Given the description of an element on the screen output the (x, y) to click on. 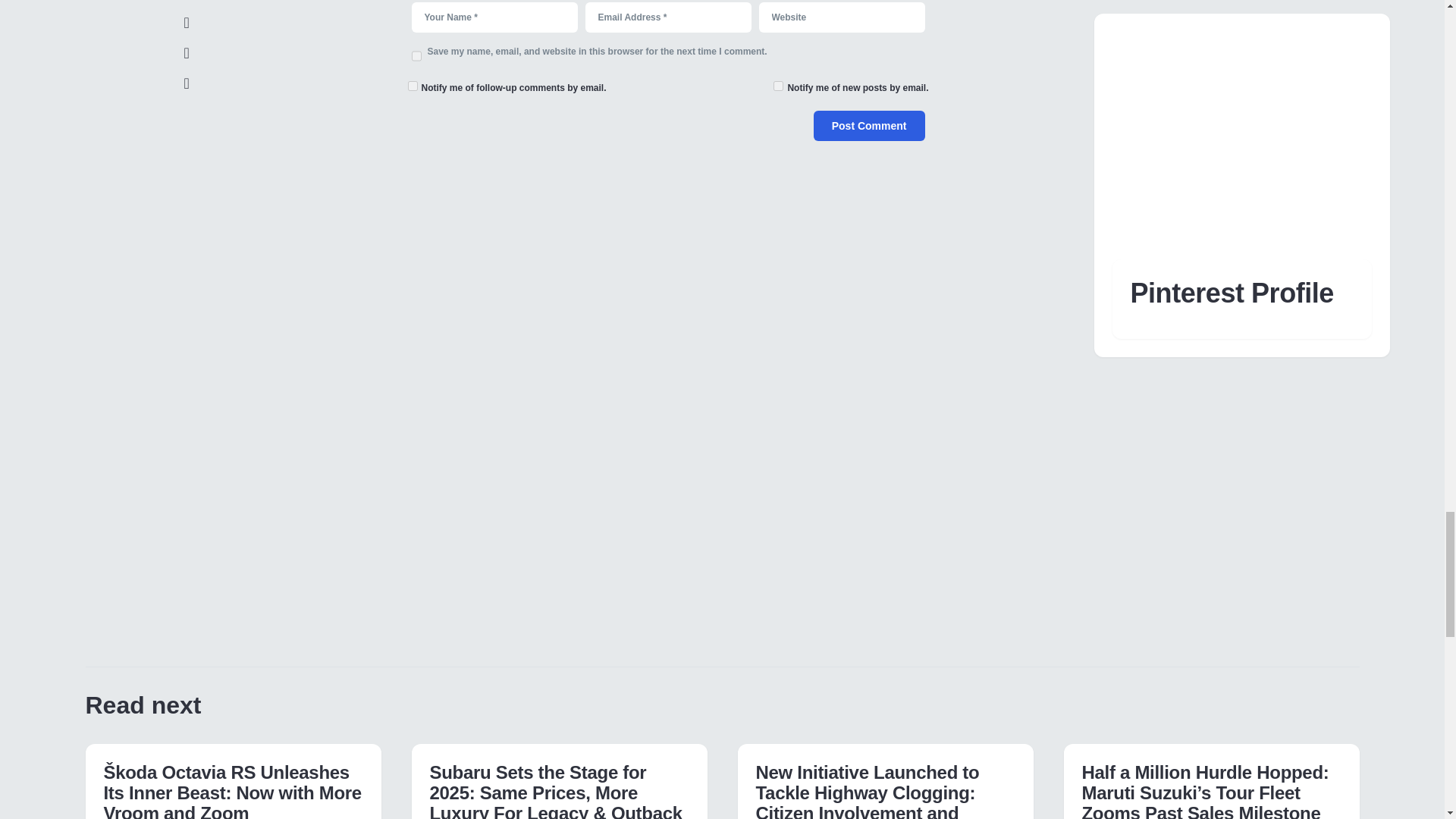
subscribe (778, 85)
subscribe (412, 85)
Post Comment (868, 125)
